Given the description of an element on the screen output the (x, y) to click on. 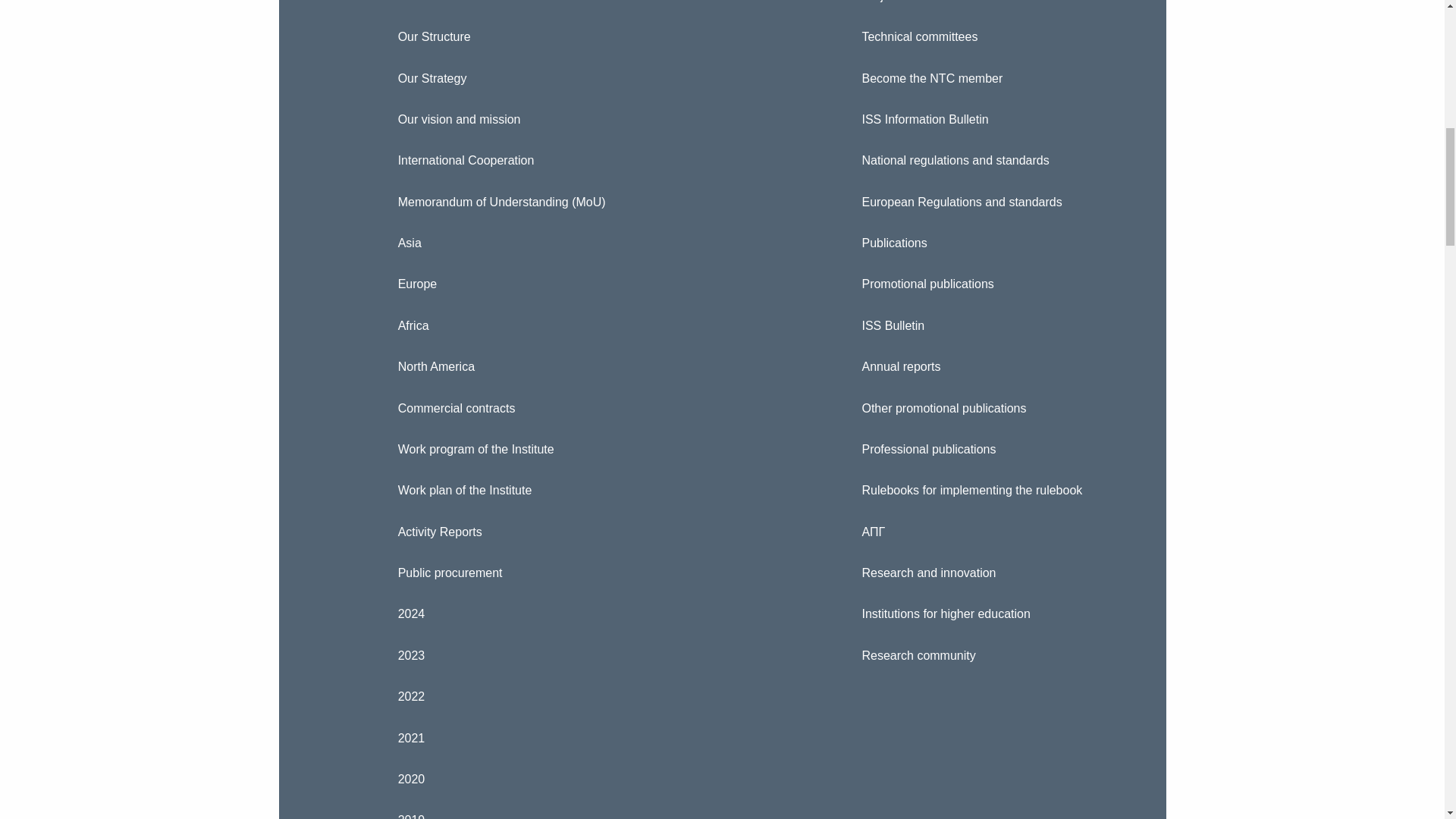
North America (601, 366)
Commercial contracts (601, 407)
Our Structure (601, 36)
Europe (601, 283)
Our Strategy (601, 77)
Activity Reports (601, 531)
2024 (601, 613)
Public procurement (601, 572)
Work program of the Institute (601, 449)
Work plan of the Institute (601, 490)
Asia (601, 242)
International Cooperation (601, 160)
2023 (601, 655)
Africa (601, 325)
Our vision and mission (601, 119)
